Given the description of an element on the screen output the (x, y) to click on. 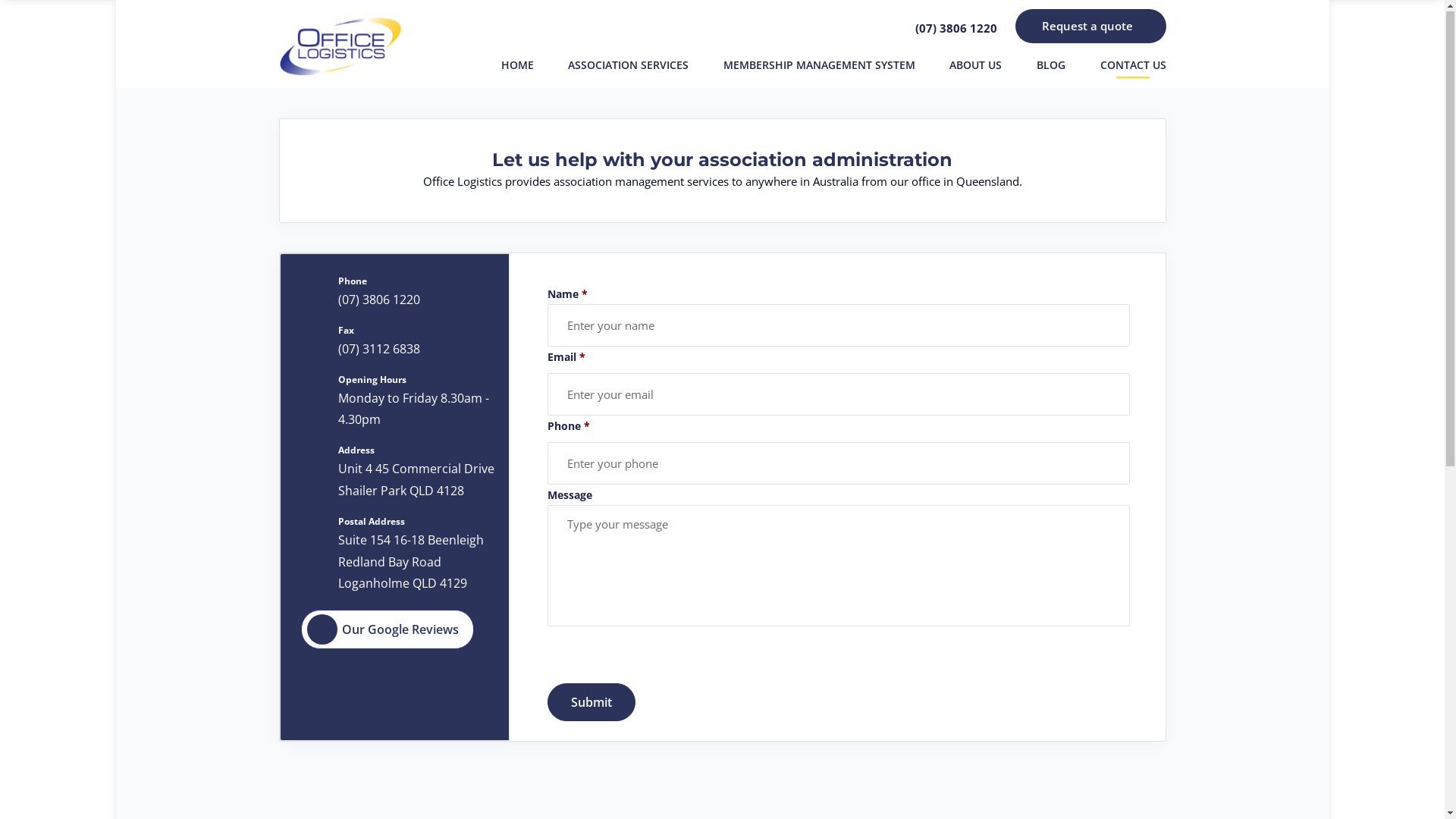
ABOUT US Element type: text (975, 67)
BLOG Element type: text (1050, 67)
Submit Element type: text (591, 702)
(07) 3806 1220 Element type: text (379, 299)
HOME Element type: text (517, 67)
(07) 3806 1220 Element type: text (951, 26)
MEMBERSHIP MANAGEMENT SYSTEM Element type: text (819, 67)
CONTACT US Element type: text (1132, 67)
Search Element type: text (1108, 23)
ASSOCIATION SERVICES Element type: text (627, 67)
Office Logistics Element type: hover (340, 45)
Request a quote   Element type: text (1089, 26)
